Given the description of an element on the screen output the (x, y) to click on. 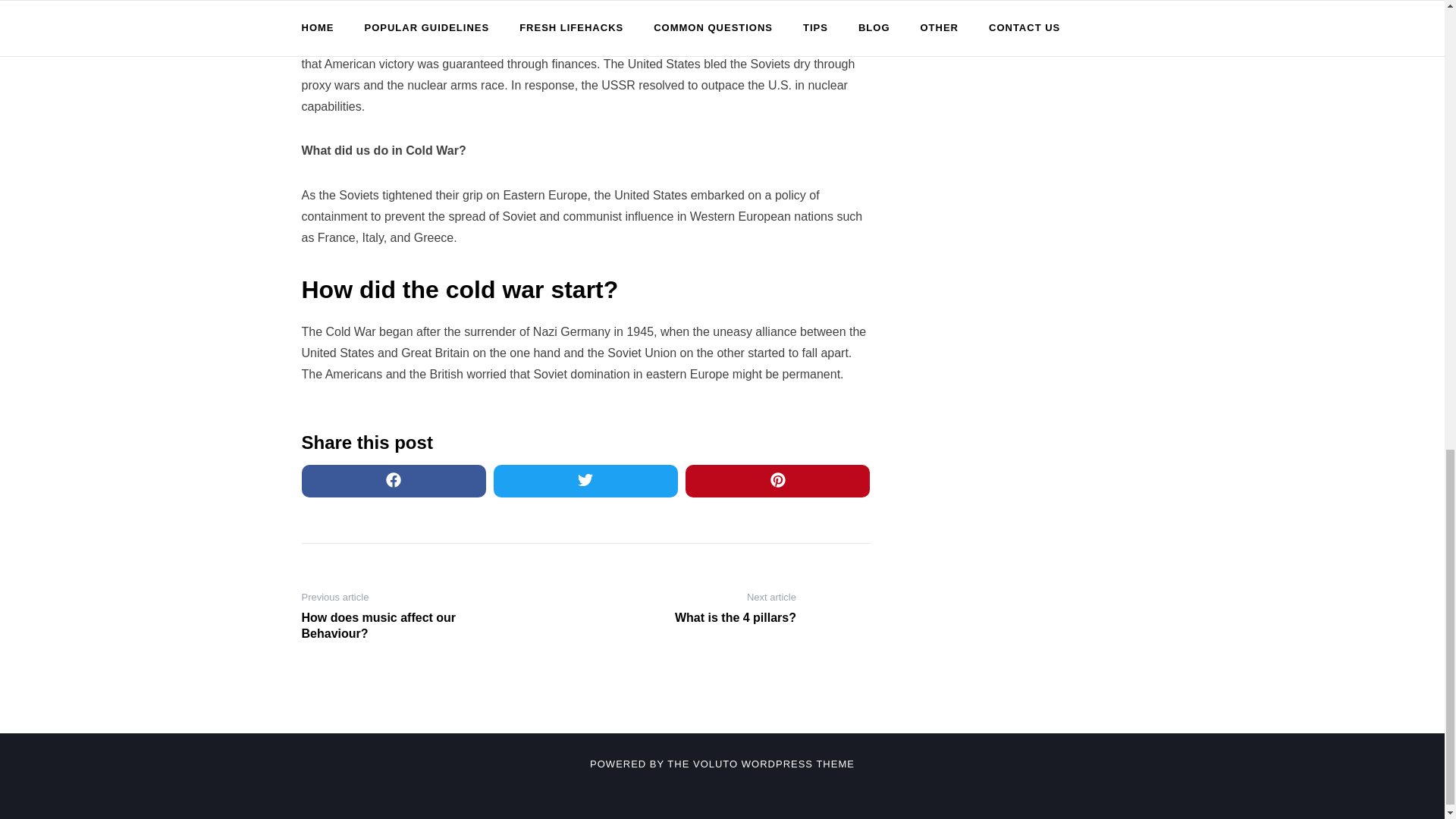
How does music affect our Behaviour? (400, 626)
VOLUTO (715, 763)
What is the 4 pillars? (696, 618)
